Given the description of an element on the screen output the (x, y) to click on. 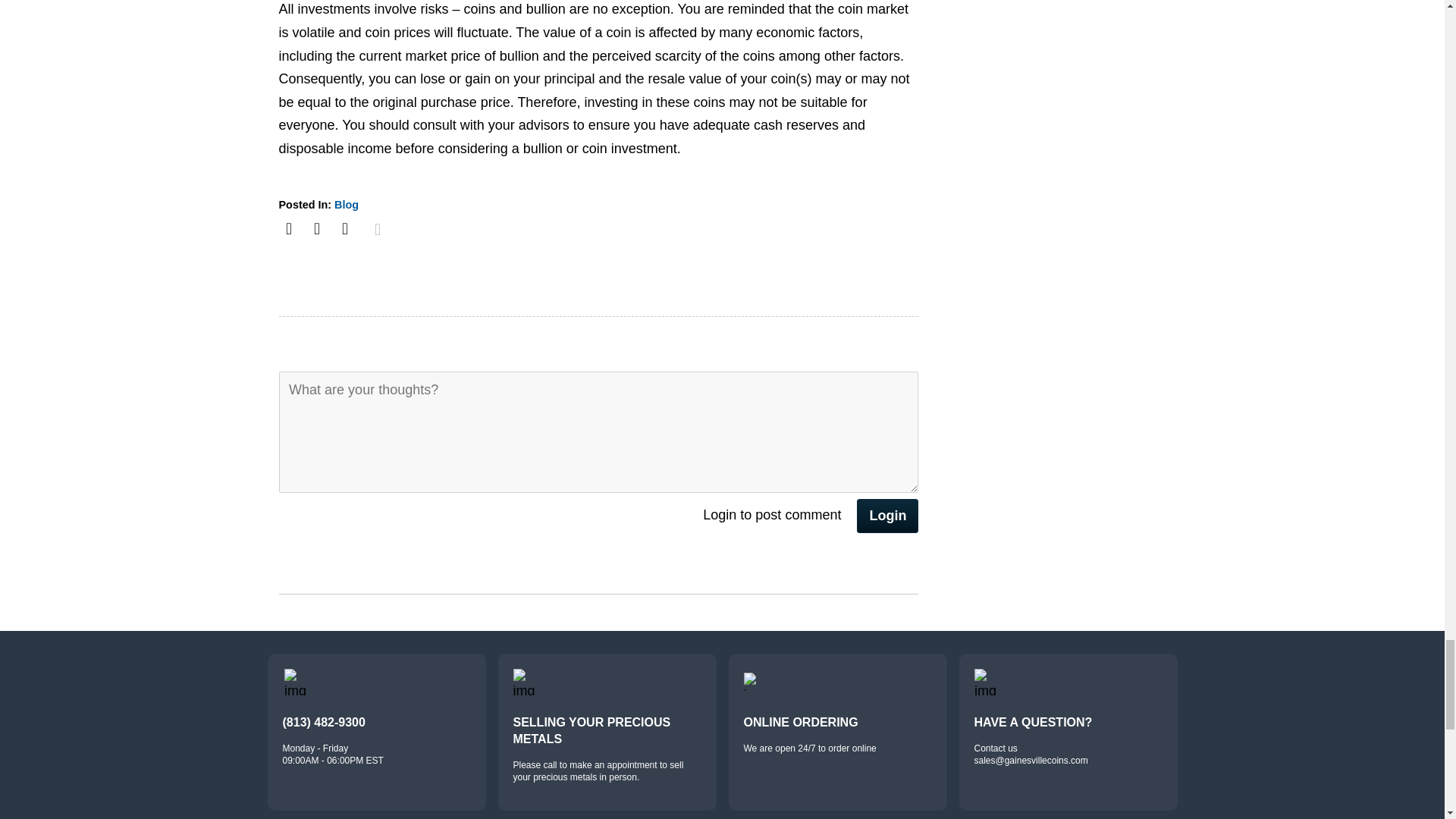
Copy link to clipboard. (376, 229)
